Given the description of an element on the screen output the (x, y) to click on. 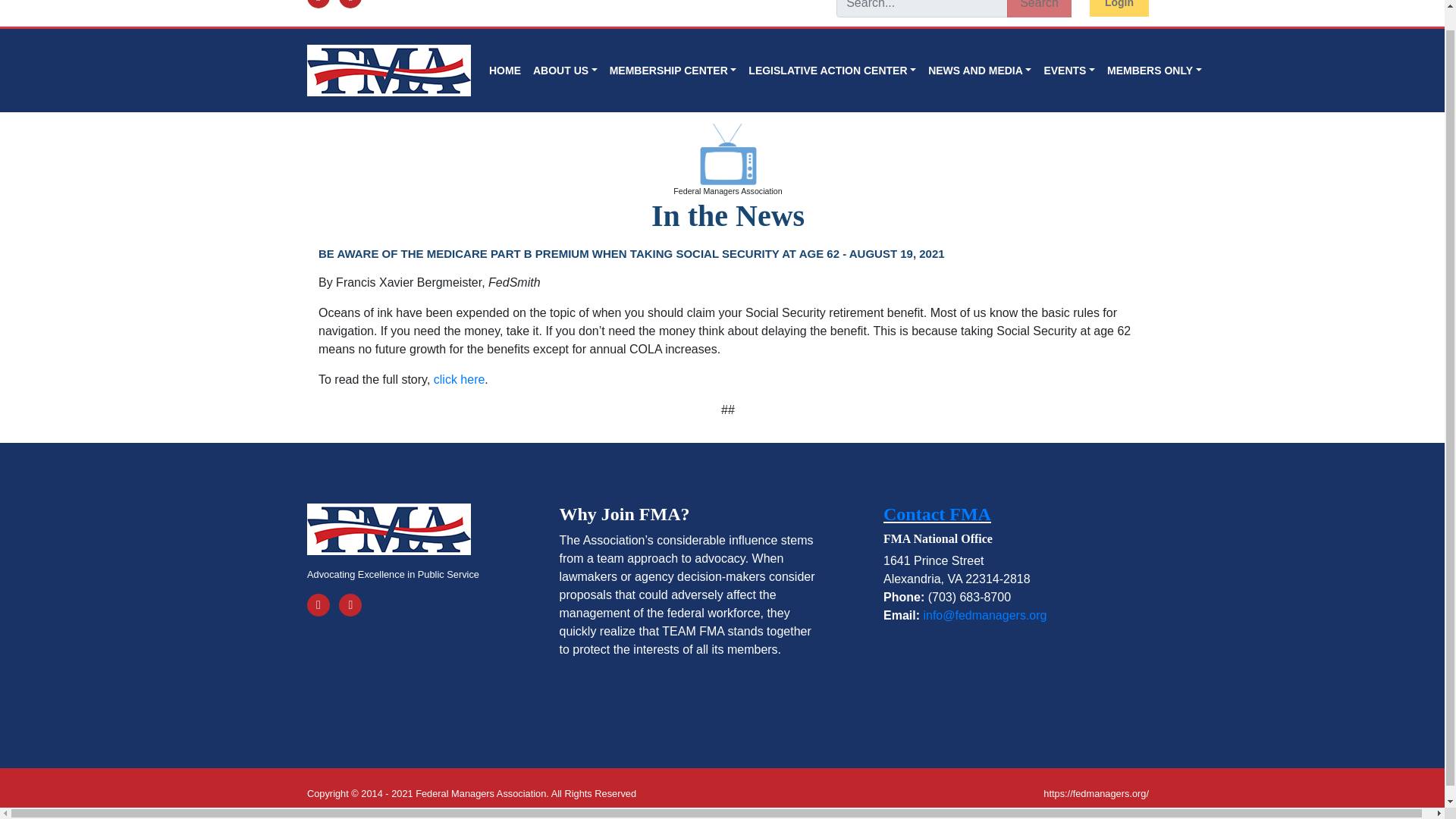
LEGISLATIVE ACTION CENTER (831, 70)
ABOUT US (565, 70)
Login (1118, 8)
HOME (505, 70)
Search (1039, 8)
MEMBERSHIP CENTER (673, 70)
